Given the description of an element on the screen output the (x, y) to click on. 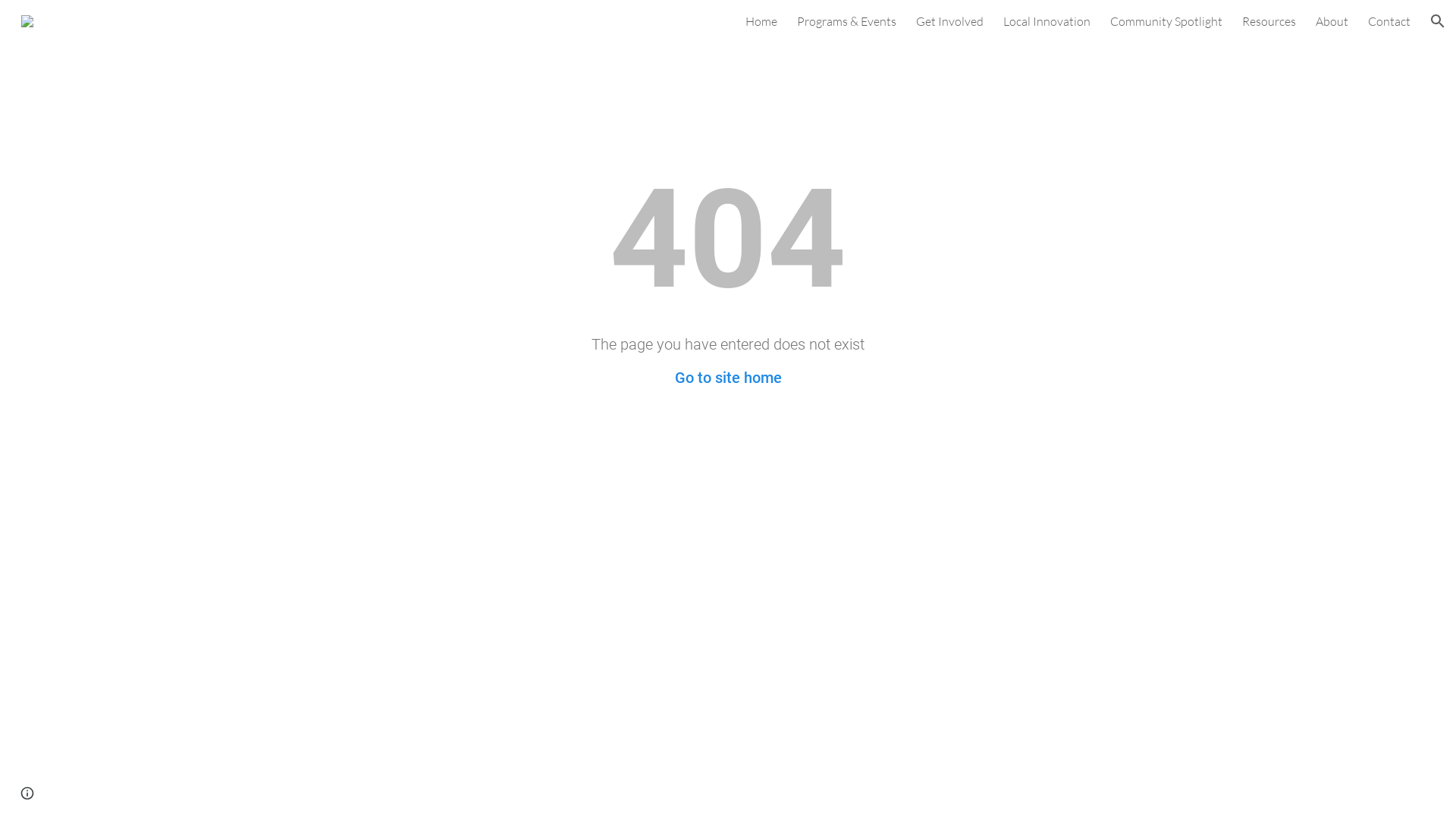
Get Involved Element type: text (949, 20)
Local Innovation Element type: text (1046, 20)
About Element type: text (1331, 20)
Programs & Events Element type: text (846, 20)
Home Element type: text (761, 20)
Community Spotlight Element type: text (1166, 20)
Contact Element type: text (1389, 20)
Go to site home Element type: text (727, 377)
Resources Element type: text (1268, 20)
